Given the description of an element on the screen output the (x, y) to click on. 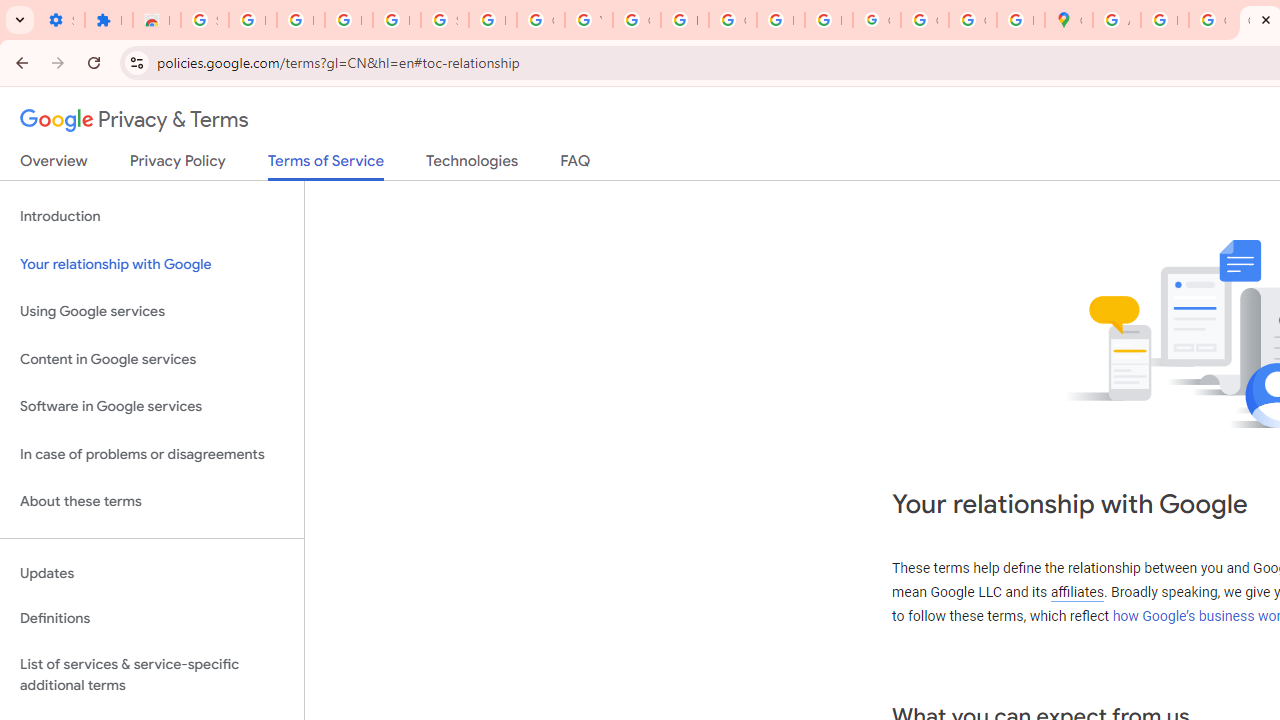
YouTube (588, 20)
Sign in - Google Accounts (444, 20)
Google Maps (1068, 20)
Google Account (540, 20)
Settings - On startup (60, 20)
Your relationship with Google (152, 263)
